Given the description of an element on the screen output the (x, y) to click on. 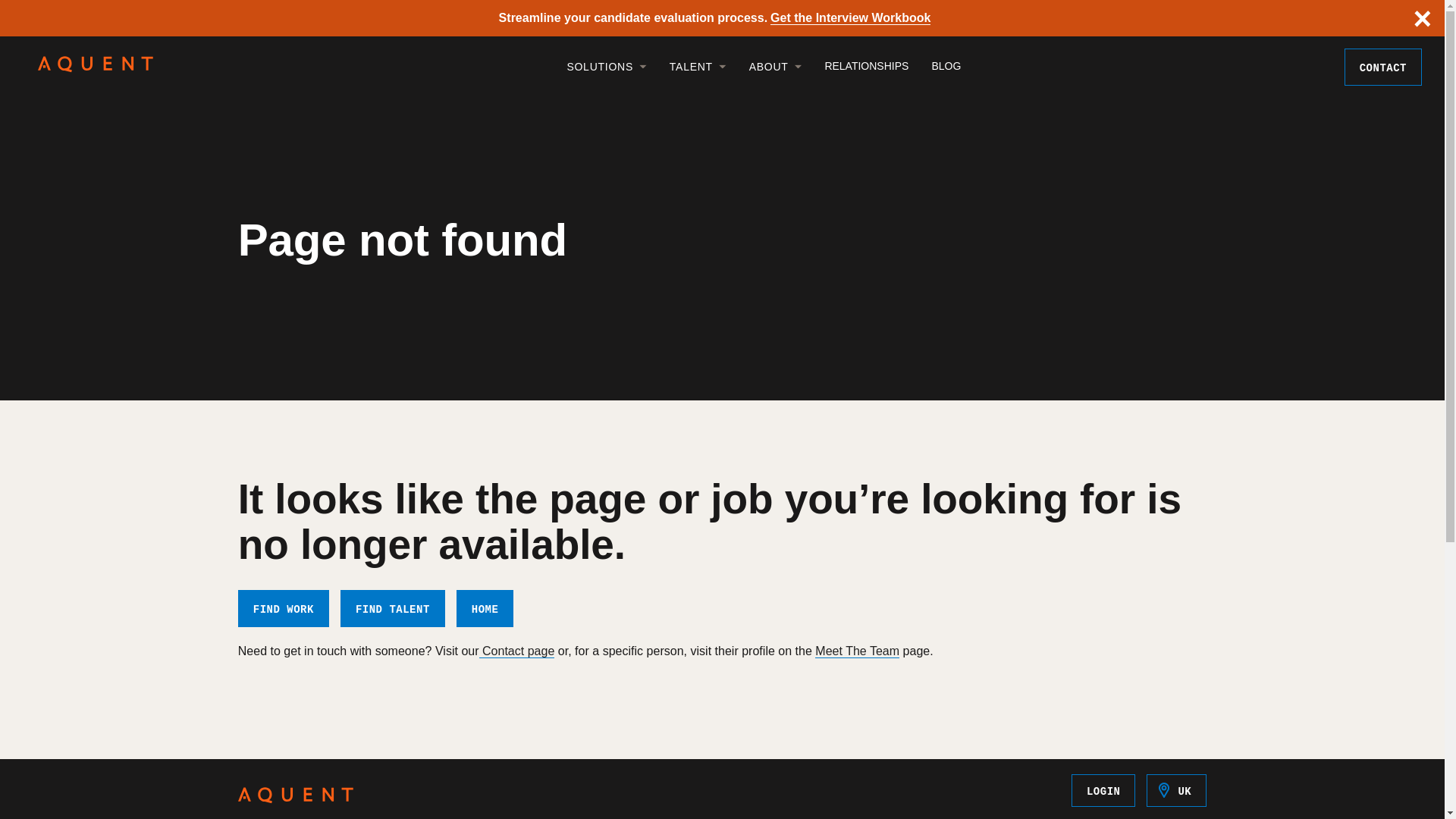
FIND WORK (283, 608)
BLOG (934, 65)
CONTACT (1382, 66)
Aquent Homepage (94, 68)
Contact page (516, 651)
RELATIONSHIPS (855, 65)
HOME (485, 608)
LOGIN (1103, 789)
Get the Interview Workbook (850, 18)
Aquent Homepage (295, 798)
Meet The Team (857, 651)
FIND TALENT (392, 608)
